Given the description of an element on the screen output the (x, y) to click on. 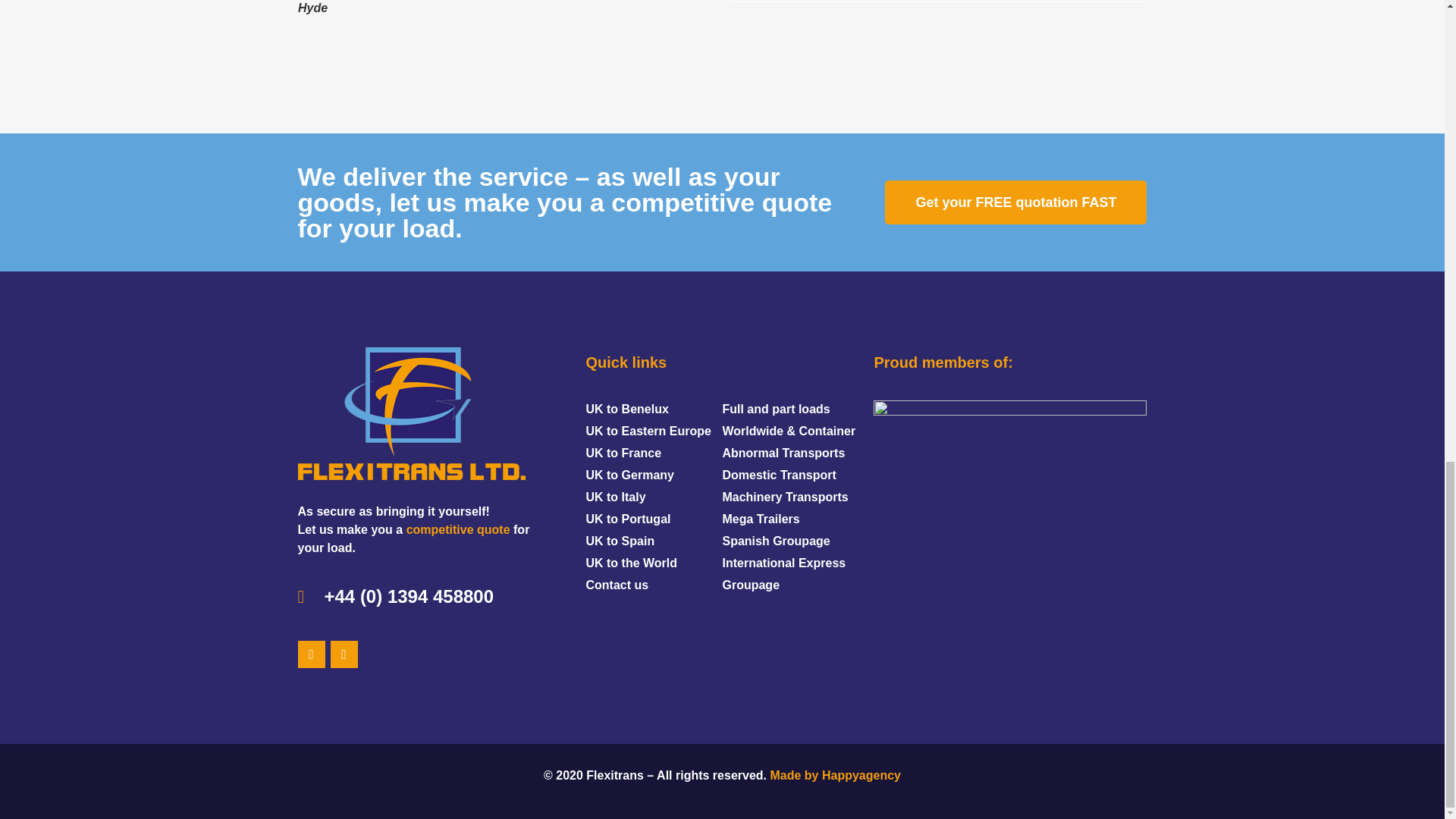
Request Quotation (458, 529)
